Given the description of an element on the screen output the (x, y) to click on. 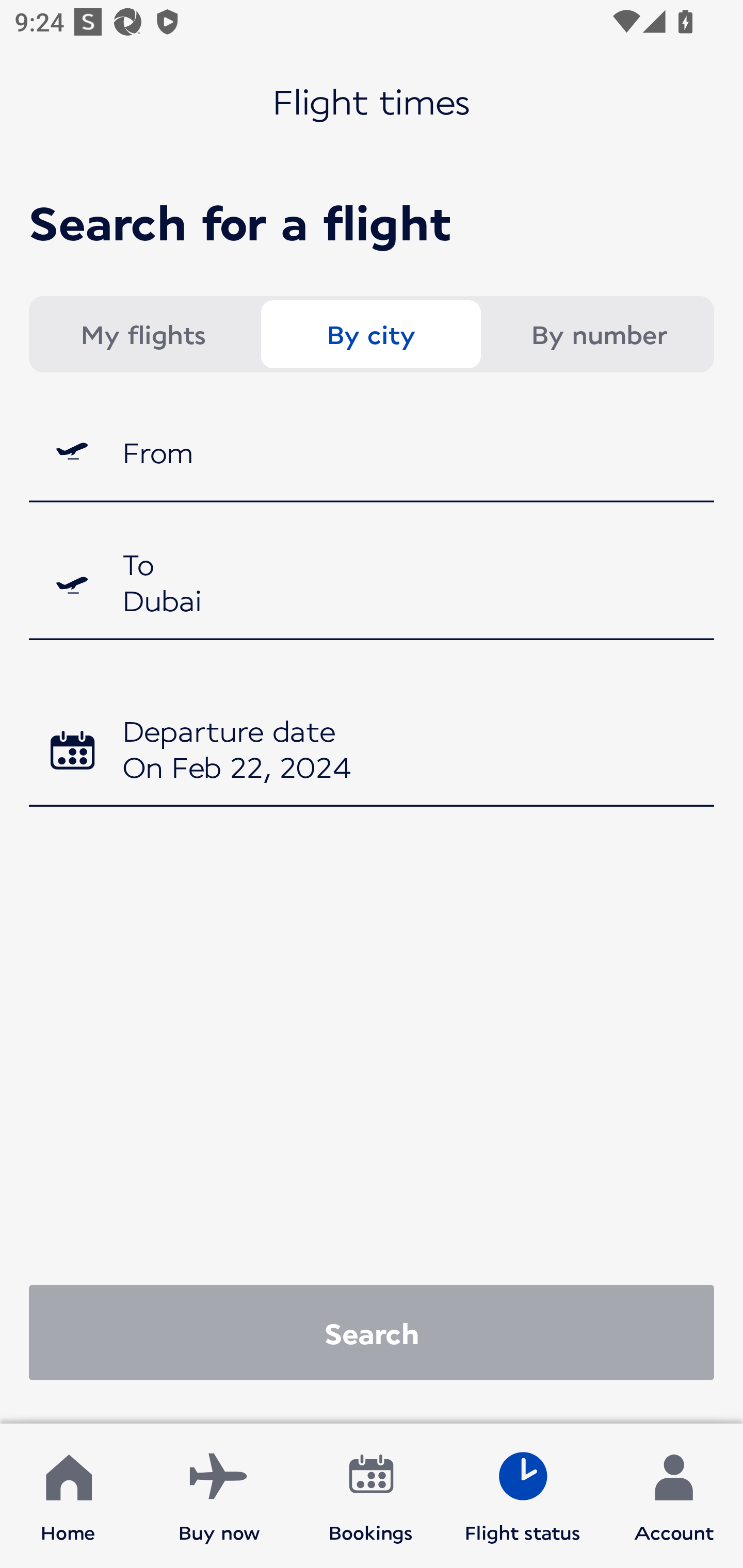
My flights (142, 334)
By city (370, 334)
By number (598, 334)
From (371, 451)
Dubai To (371, 585)
On Feb 22, 2024 Departure date (371, 751)
Search (371, 1331)
Home (68, 1495)
Buy now (219, 1495)
Bookings (370, 1495)
Account (674, 1495)
